Given the description of an element on the screen output the (x, y) to click on. 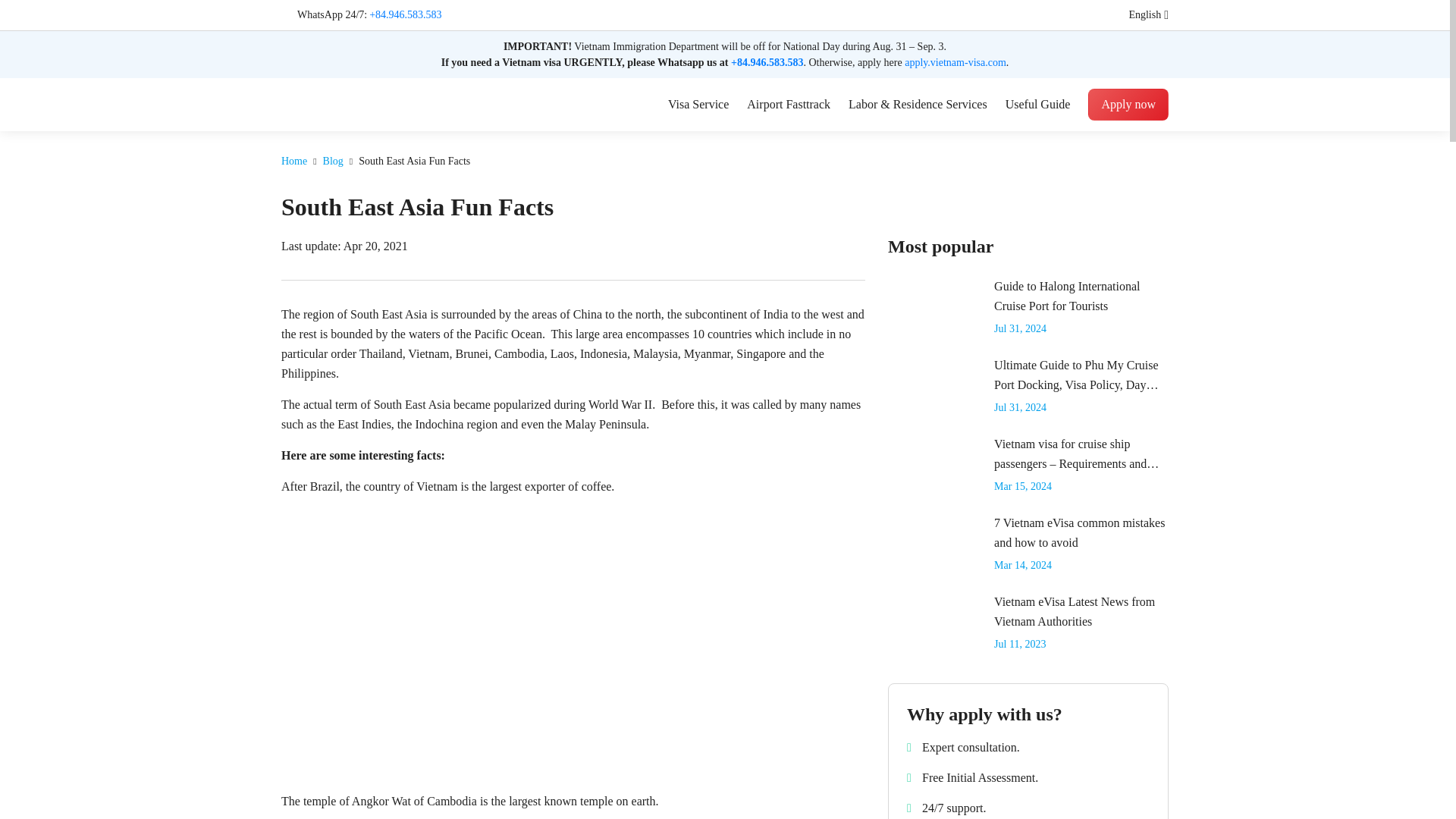
Visa Service (698, 104)
logo vietnam-visa.com (345, 103)
Click to share this post on Twitter (857, 245)
twitter sharing button (857, 246)
Airport Fasttrack (787, 104)
Apply now (1128, 104)
apply.vietnam-visa.com (955, 61)
Useful Guide (1038, 104)
